Given the description of an element on the screen output the (x, y) to click on. 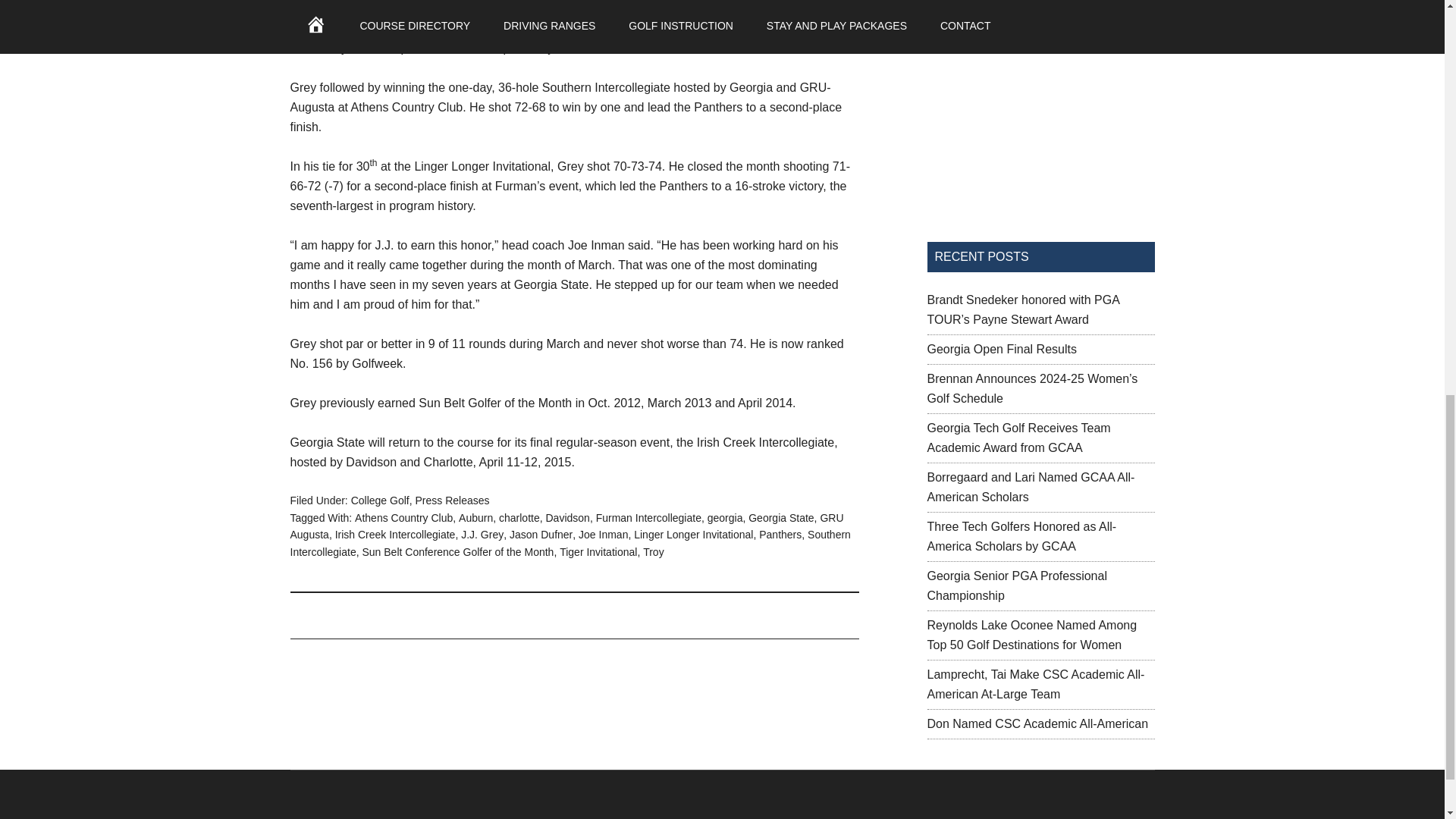
Davidson (567, 517)
Panthers (780, 534)
Athens Country Club (403, 517)
GRU Augusta (566, 525)
Southern Intercollegiate (569, 542)
Furman Intercollegiate (648, 517)
Joe Inman (602, 534)
Tiger Invitational (598, 551)
Sun Belt Conference Golfer of the Month (457, 551)
georgia (724, 517)
